Given the description of an element on the screen output the (x, y) to click on. 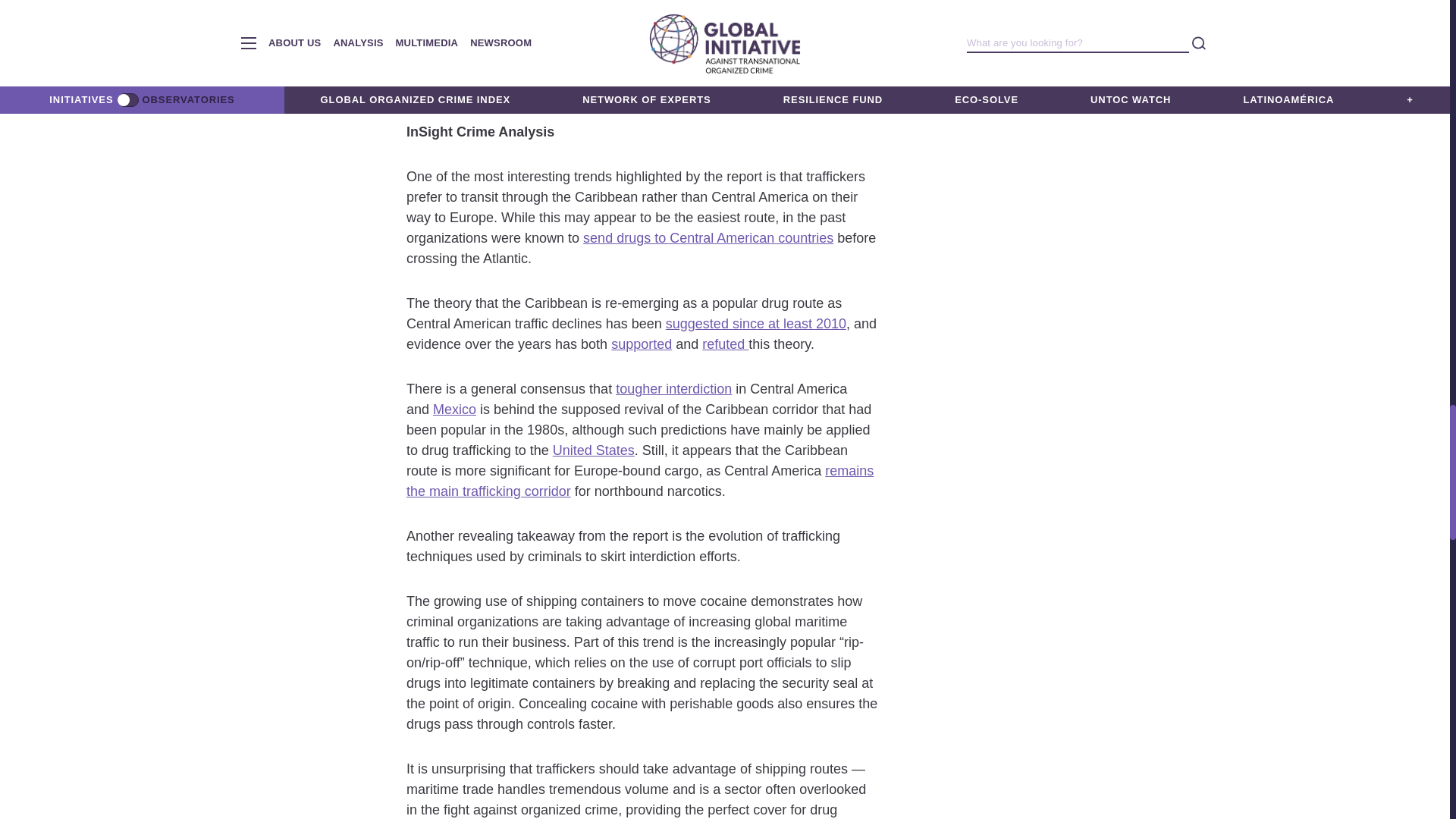
Link to Mexico landing page. (454, 409)
